Given the description of an element on the screen output the (x, y) to click on. 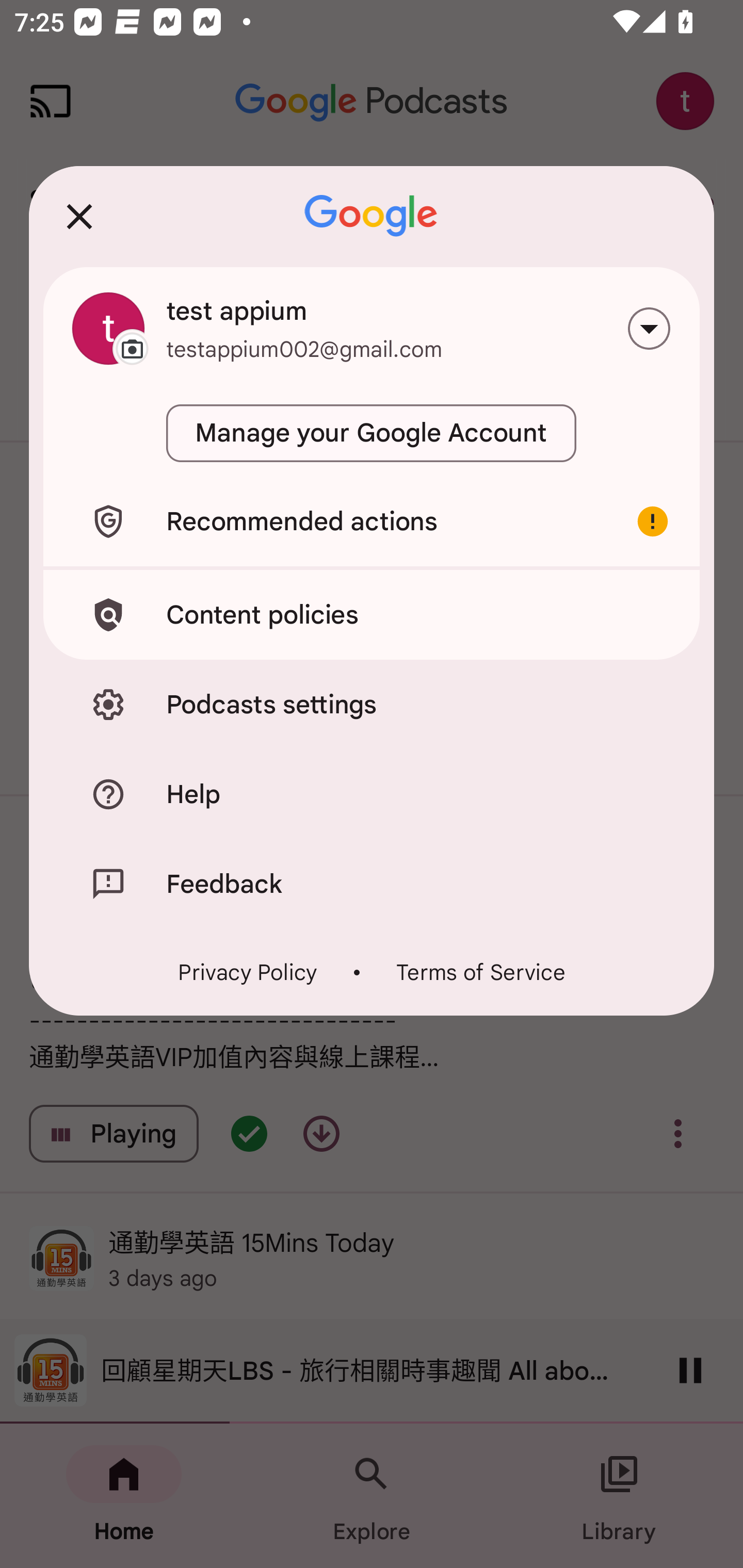
Close (79, 216)
Change profile picture. (108, 328)
Manage your Google Account (371, 433)
Recommended actions Important account alert (371, 521)
Content policies (371, 614)
Privacy Policy (247, 972)
Terms of Service (479, 972)
